Given the description of an element on the screen output the (x, y) to click on. 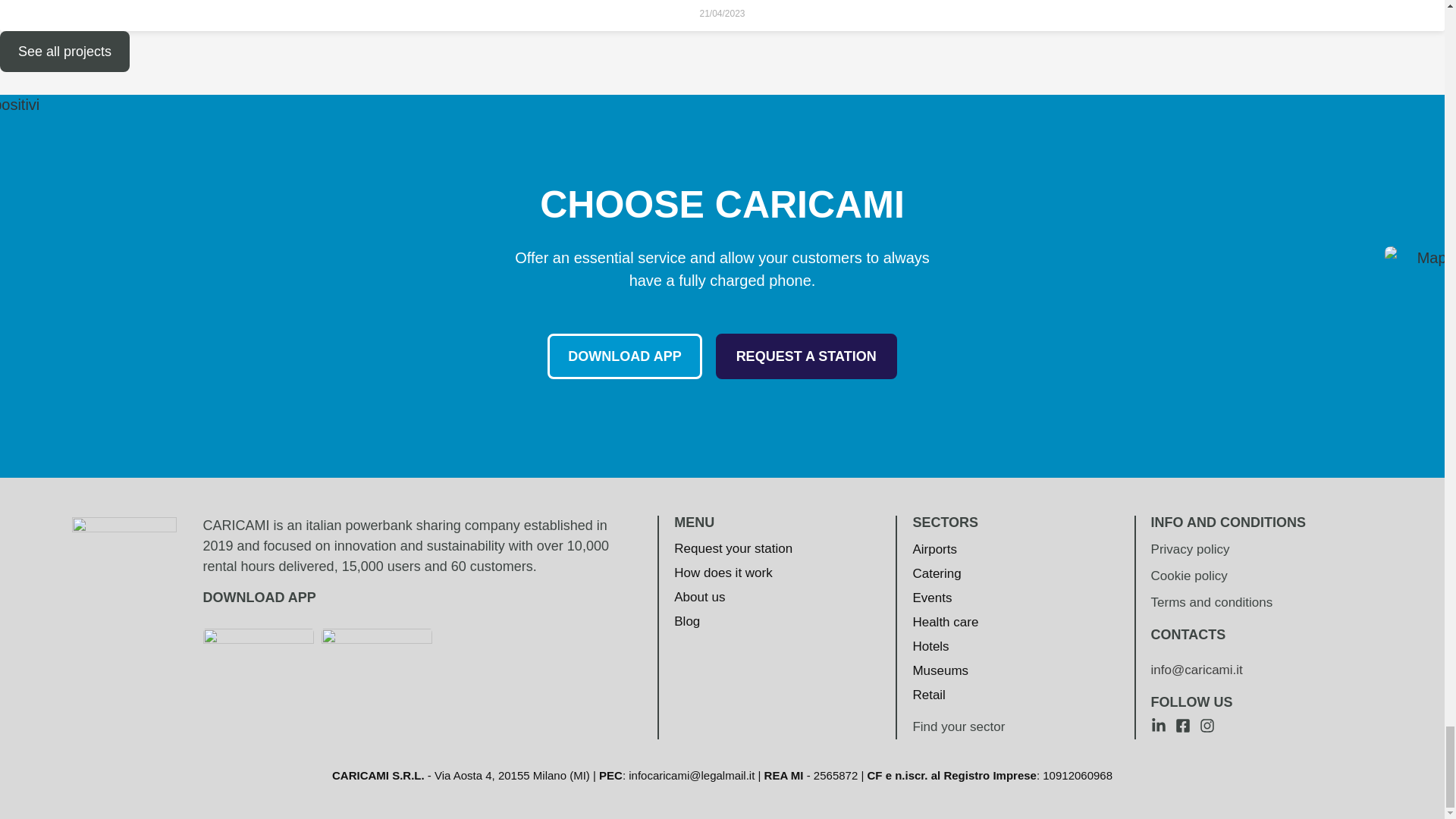
Request your station (733, 548)
Blog (733, 621)
See all projects (64, 51)
REQUEST A STATION (806, 356)
How does it work (733, 572)
Airports (944, 549)
Catering (944, 573)
DOWNLOAD APP (624, 356)
About us (733, 597)
Events (944, 598)
